Given the description of an element on the screen output the (x, y) to click on. 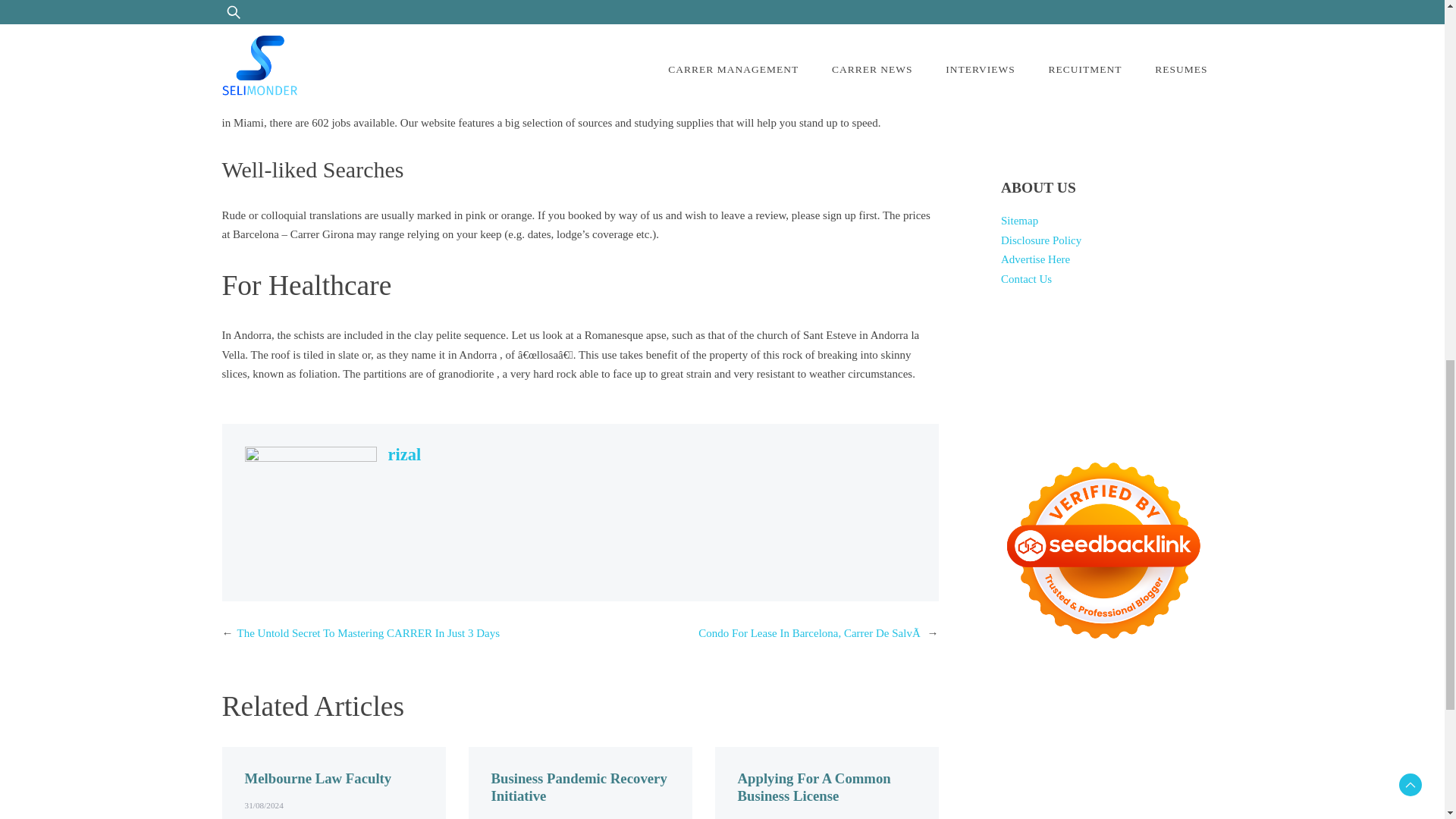
Applying For A Common Business License (812, 786)
The Untold Secret To Mastering CARRER In Just 3 Days (367, 633)
Seedbacklink (1103, 549)
rizal (405, 454)
Melbourne Law Faculty (317, 778)
Business Pandemic Recovery Initiative (579, 786)
